Given the description of an element on the screen output the (x, y) to click on. 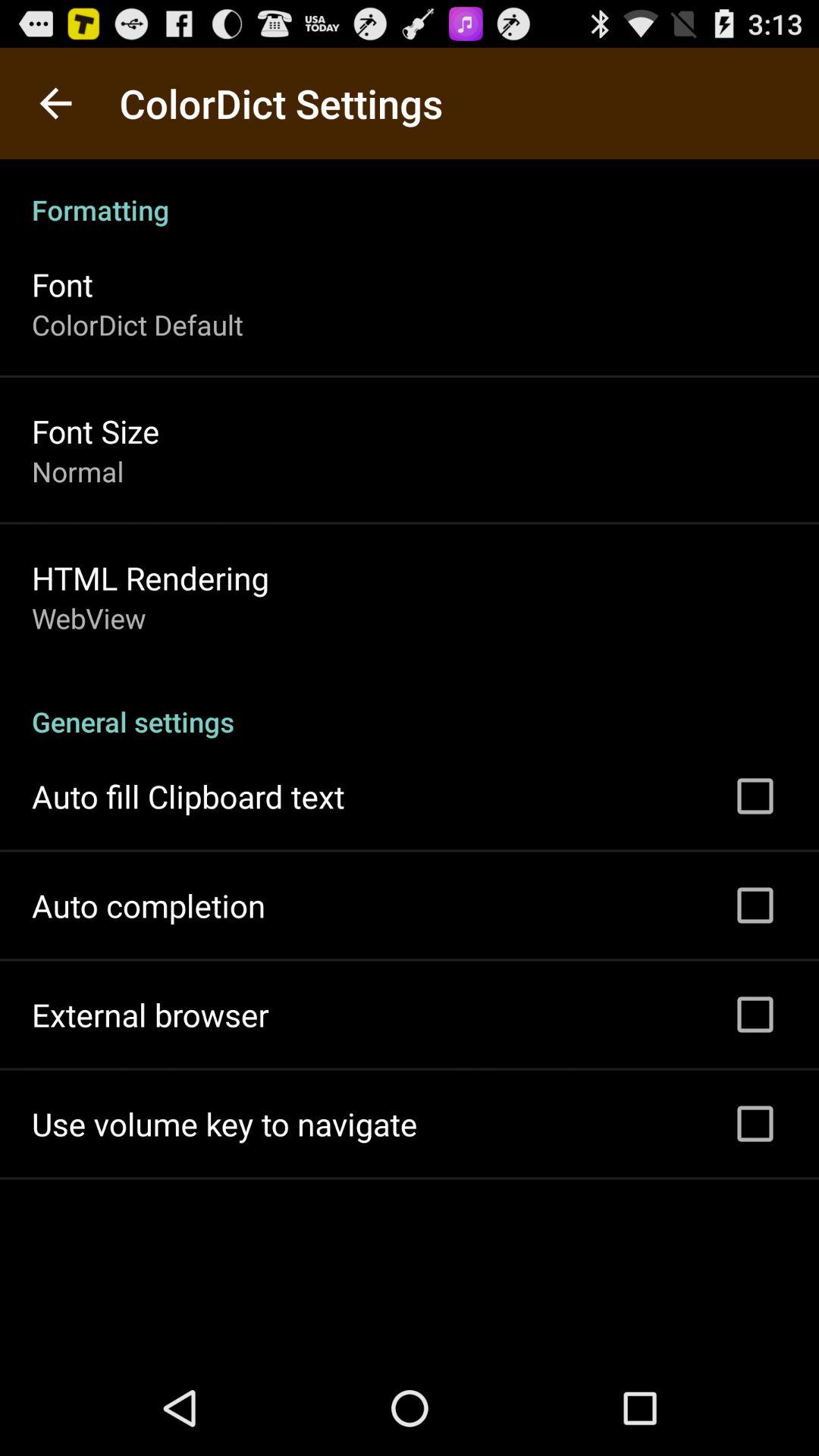
swipe to the html rendering (150, 577)
